Given the description of an element on the screen output the (x, y) to click on. 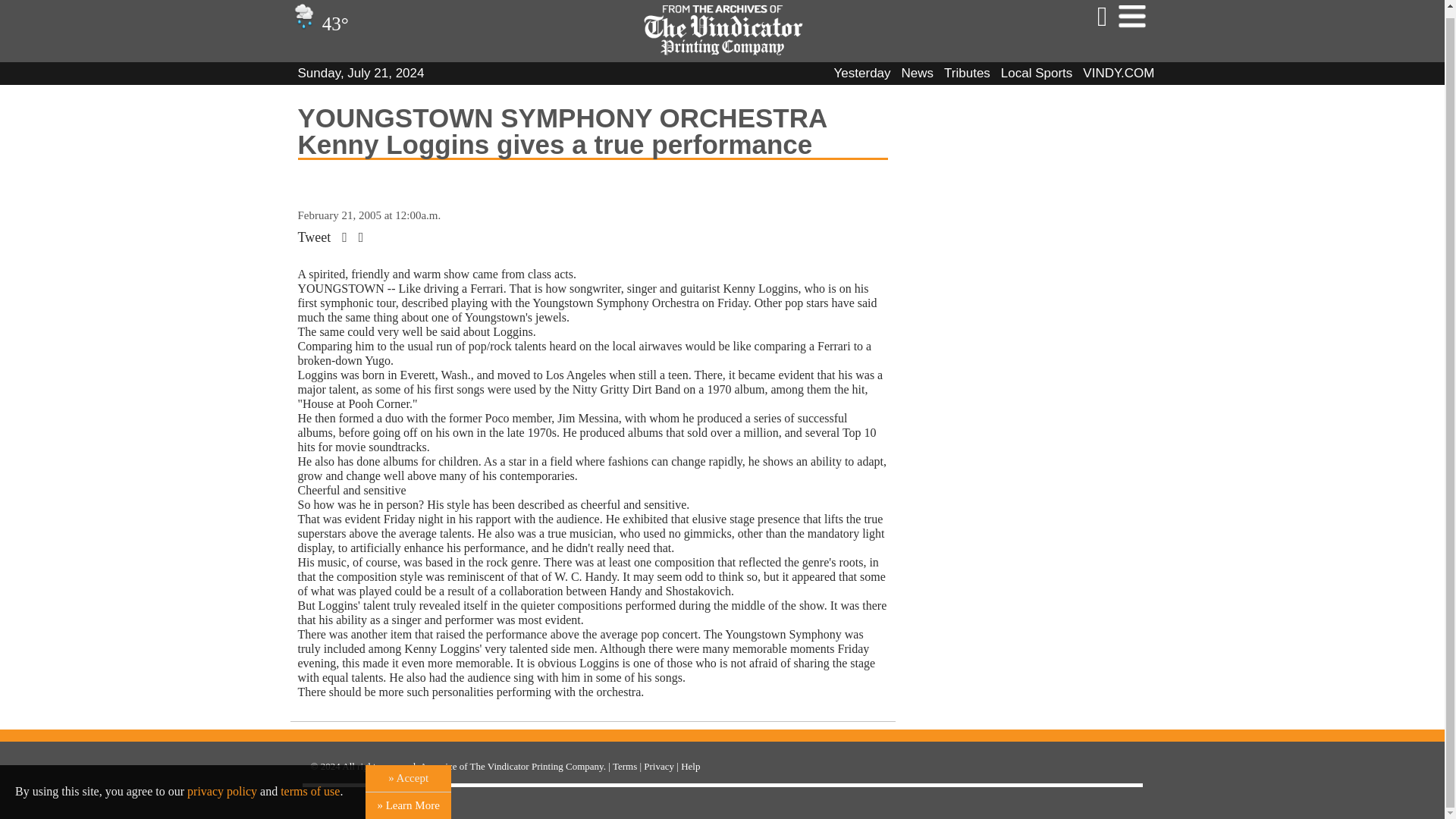
Sunday, July 21, 2024 (360, 73)
Privacy (658, 766)
Terms (624, 766)
terms of use (310, 784)
Tweet (313, 237)
Yesterday (862, 73)
The Vindicator Printing Company (537, 766)
VINDY.COM (1118, 73)
Tributes (966, 73)
privacy policy (222, 784)
News (917, 73)
Help (690, 766)
Local Sports (1037, 73)
